Given the description of an element on the screen output the (x, y) to click on. 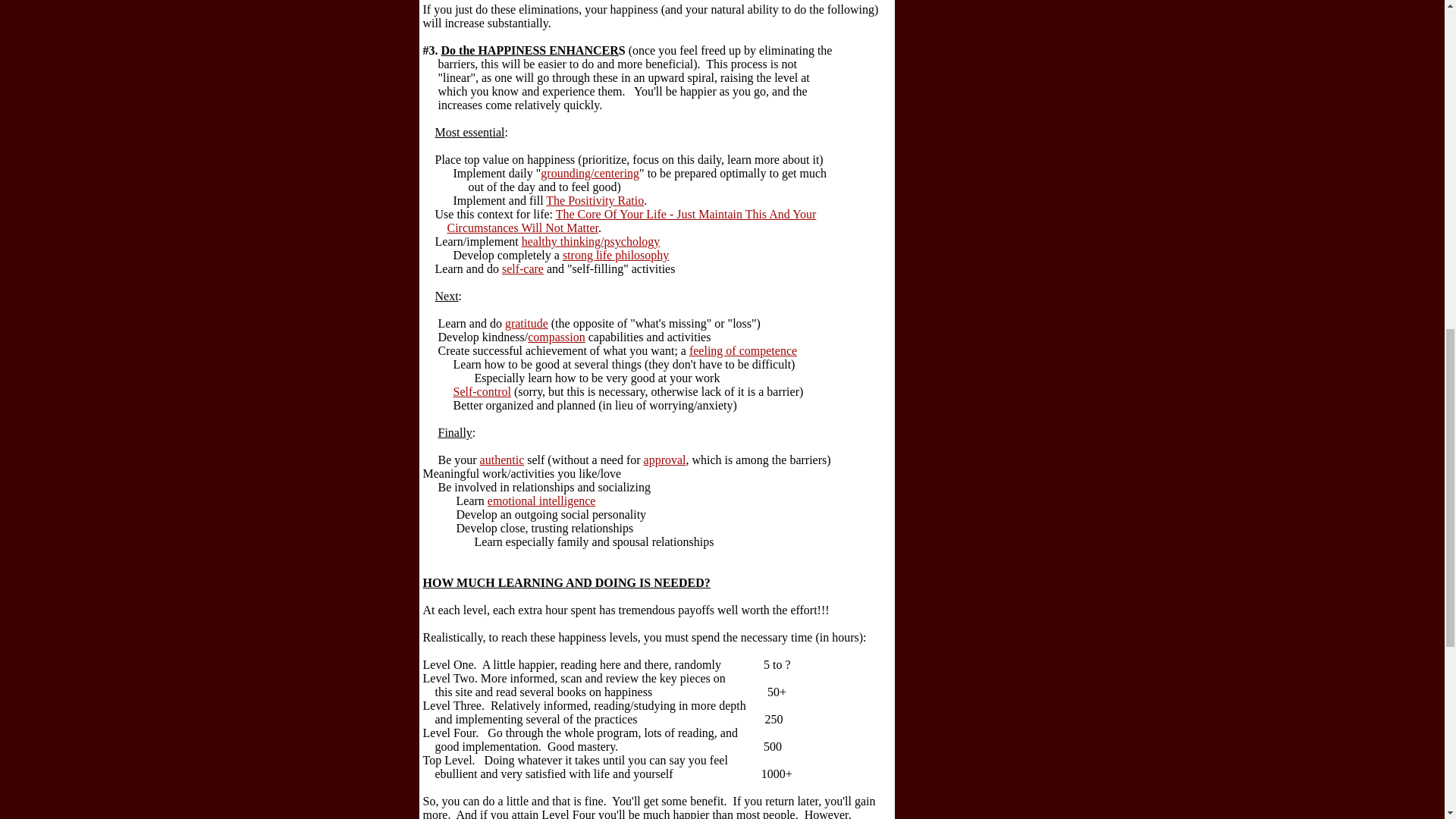
emotional intelligence (541, 500)
Self-control (481, 391)
Circumstances Will Not Matter (522, 227)
gratitude (526, 323)
strong life philosophy (615, 254)
compassion (556, 336)
The Positivity Ratio (594, 200)
approval (664, 459)
feeling of competence (742, 350)
The Core Of Your Life - Just Maintain This And Your (686, 214)
